Given the description of an element on the screen output the (x, y) to click on. 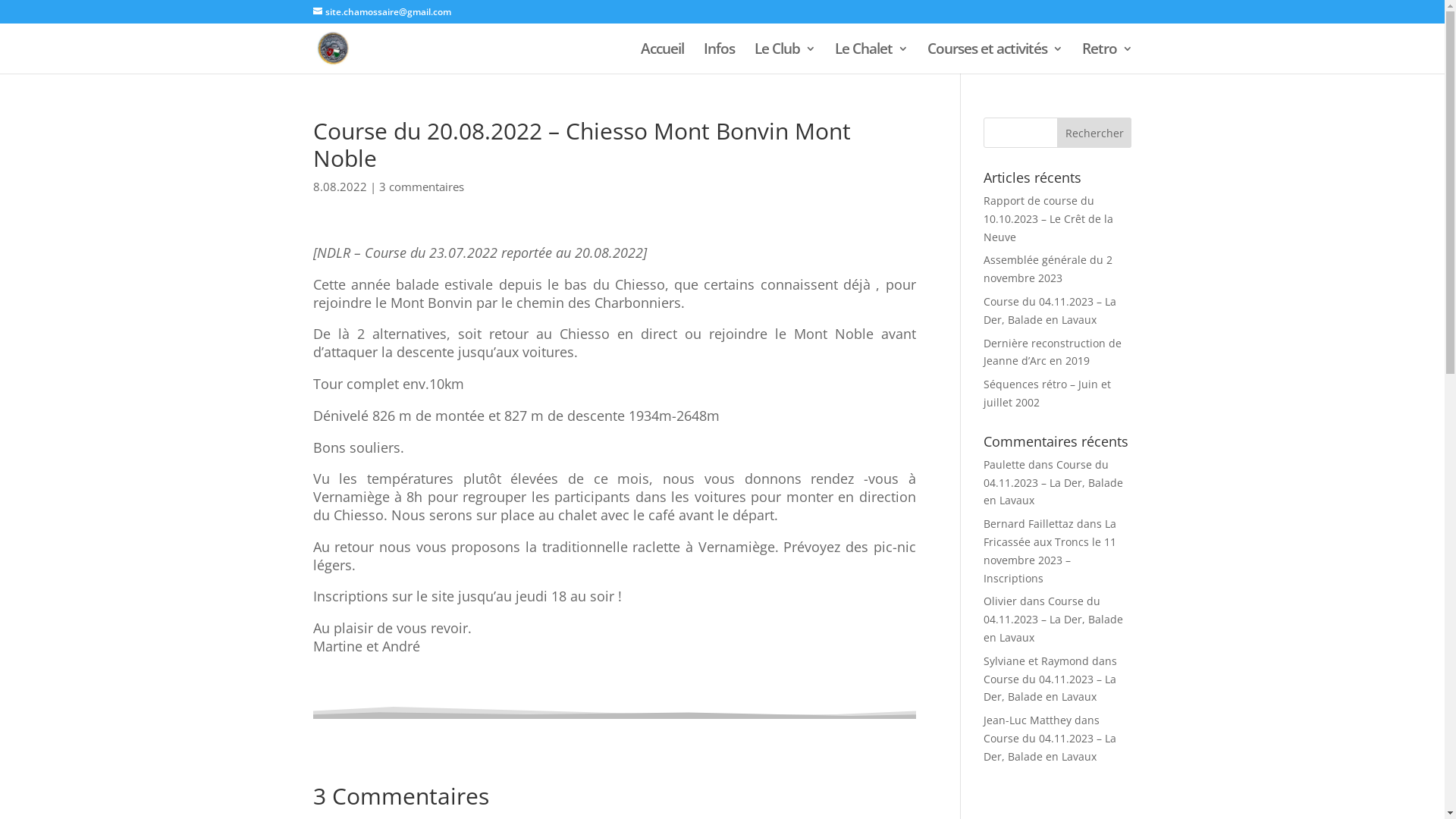
site.chamossaire@gmail.com Element type: text (381, 11)
Le Club Element type: text (783, 58)
Rechercher Element type: text (1094, 132)
Accueil Element type: text (661, 58)
Retro Element type: text (1106, 58)
Infos Element type: text (718, 58)
3 commentaires Element type: text (421, 186)
Le Chalet Element type: text (870, 58)
